Given the description of an element on the screen output the (x, y) to click on. 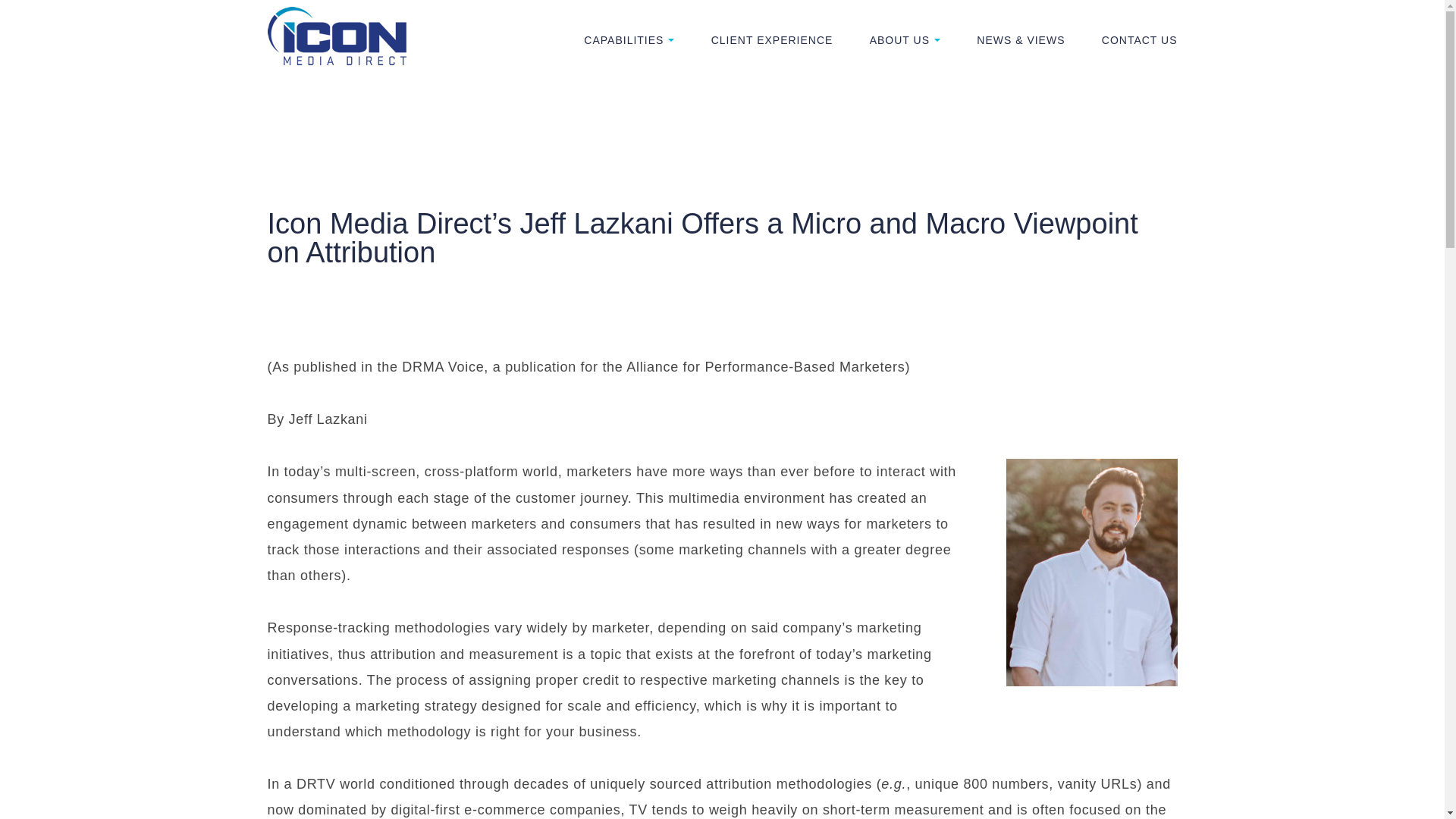
CAPABILITIES (628, 39)
CLIENT EXPERIENCE (771, 39)
ABOUT US (904, 39)
CONTACT US (1139, 39)
